Given the description of an element on the screen output the (x, y) to click on. 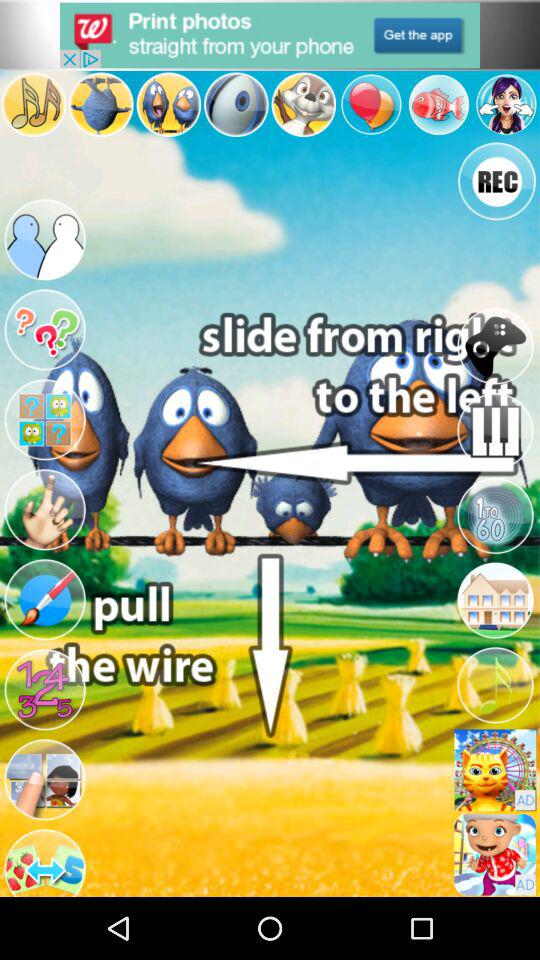
select the third  birds image option at the top (169, 104)
click on the joystick icon (494, 346)
go right most option in the bottom (494, 854)
select the option below house image (494, 685)
